Given the description of an element on the screen output the (x, y) to click on. 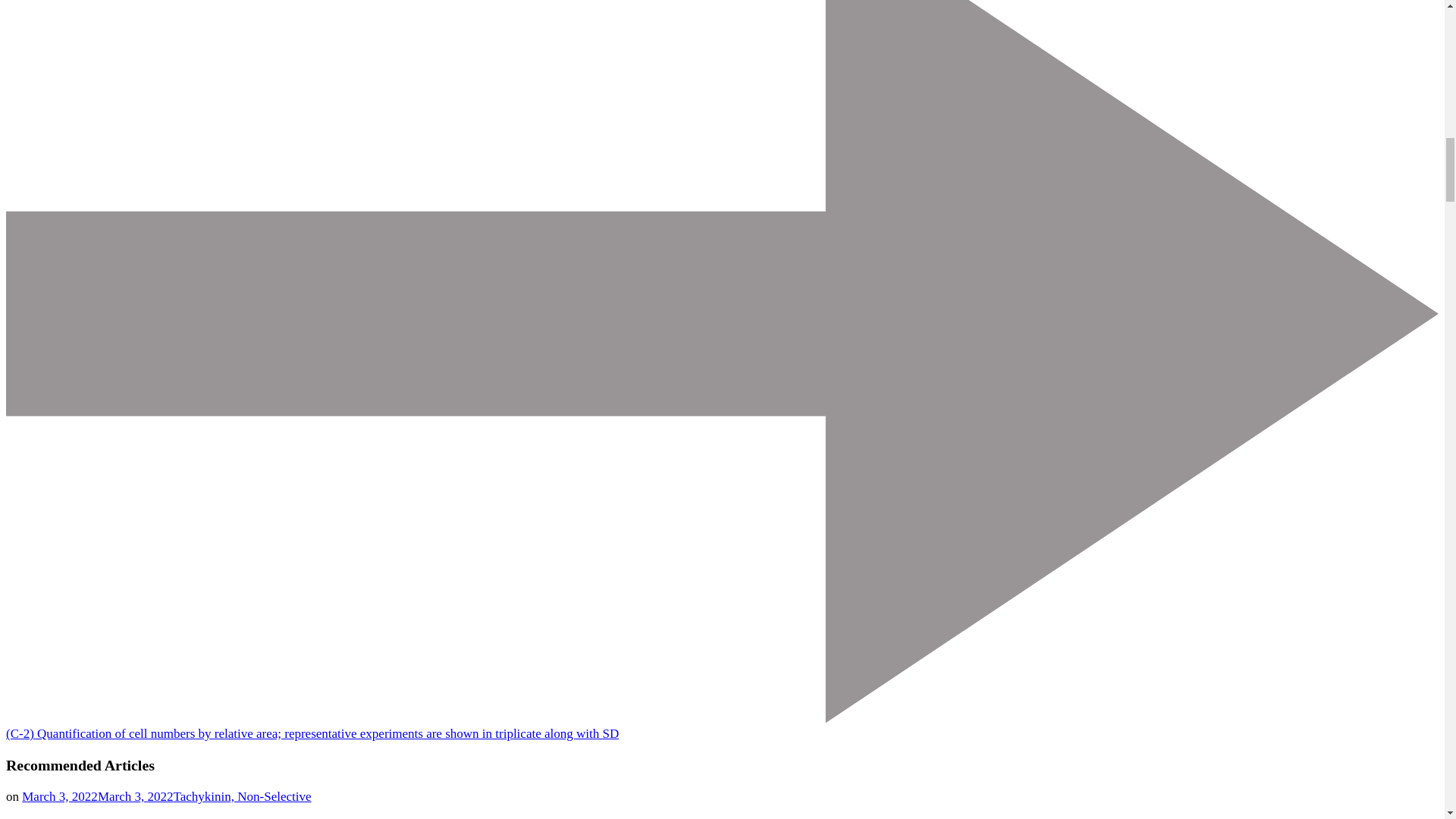
March 3, 2022March 3, 2022 (97, 796)
Tachykinin, Non-Selective (242, 796)
